Given the description of an element on the screen output the (x, y) to click on. 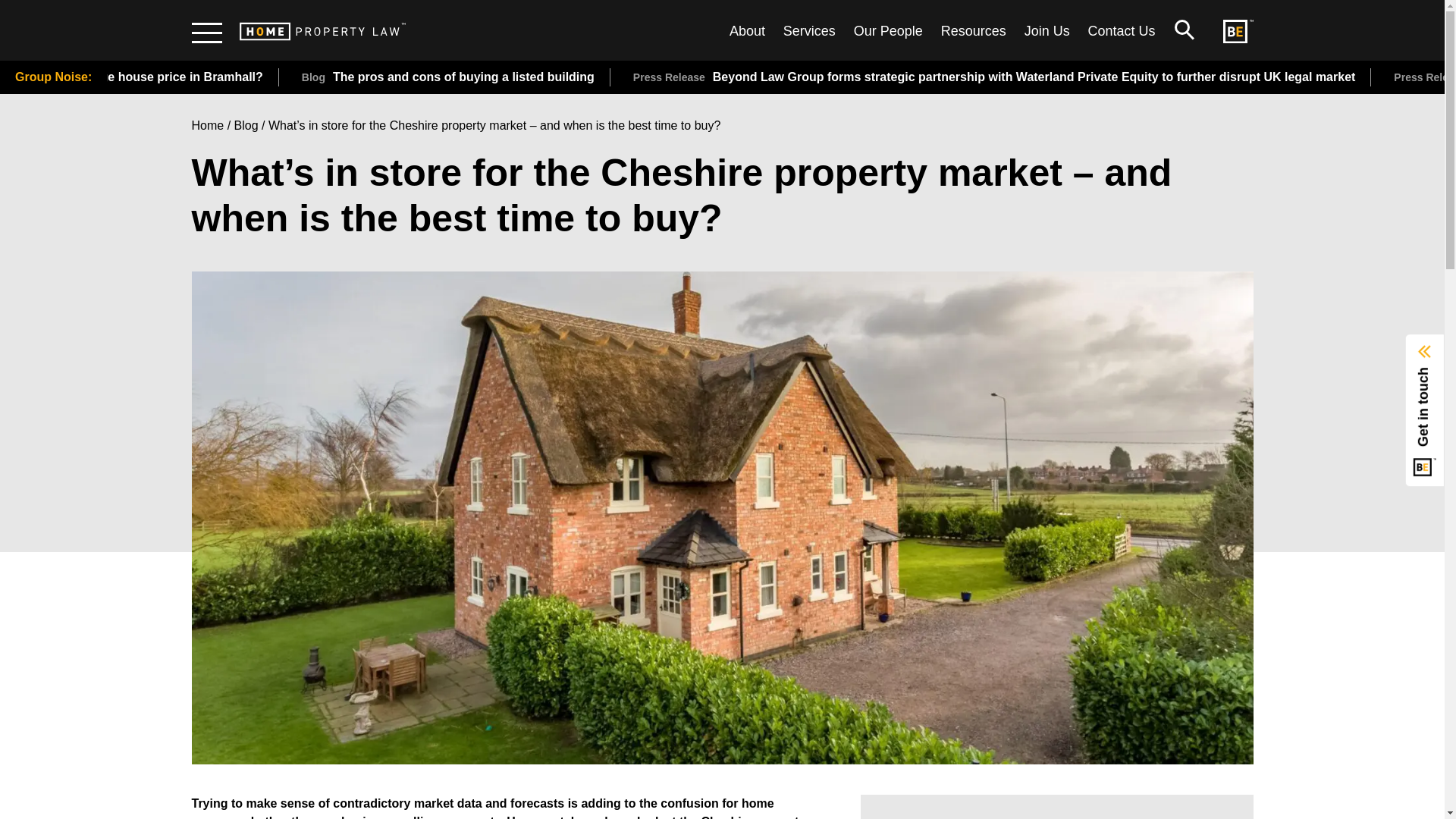
About (747, 30)
Services (809, 30)
